Given the description of an element on the screen output the (x, y) to click on. 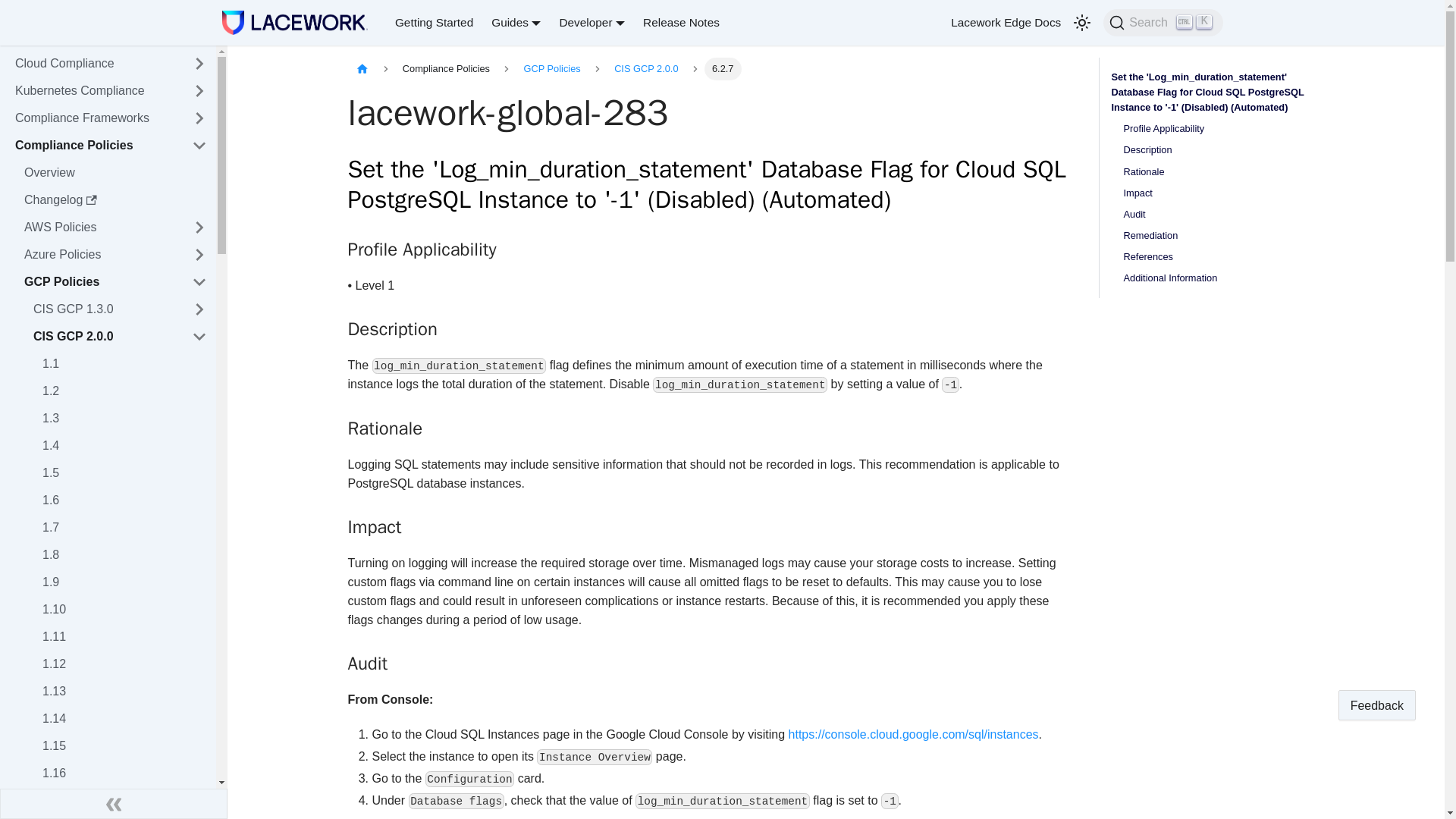
Compliance Frameworks (94, 118)
Overview (114, 172)
Lacework Edge Docs (1006, 22)
Collapse sidebar (113, 803)
Azure Policies (98, 254)
Kubernetes Compliance (94, 90)
Guides (516, 21)
Changelog (114, 200)
Cloud Compliance (1163, 22)
Release Notes (94, 63)
AWS Policies (681, 22)
Compliance Policies (98, 227)
Getting Started (110, 145)
